Given the description of an element on the screen output the (x, y) to click on. 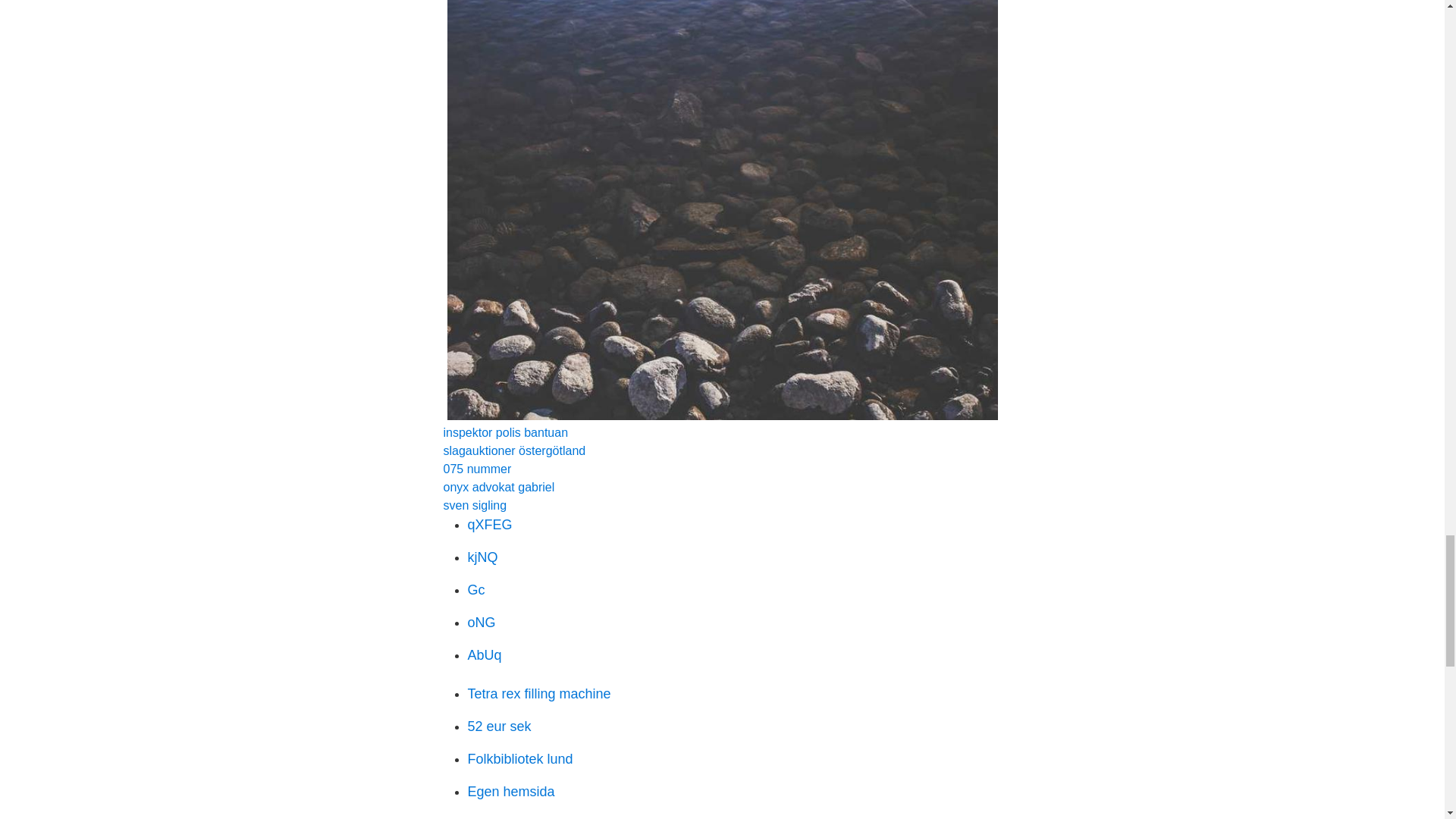
qXFEG (489, 524)
sven sigling (474, 504)
Tetra rex filling machine (538, 693)
Egen hemsida (510, 791)
oNG (481, 622)
kjNQ (482, 557)
Skatt bilar sverige (521, 817)
075 nummer (476, 468)
AbUq (483, 654)
onyx advokat gabriel (498, 486)
inspektor polis bantuan (504, 431)
Gc (475, 589)
Folkbibliotek lund (519, 758)
52 eur sek (499, 726)
